Given the description of an element on the screen output the (x, y) to click on. 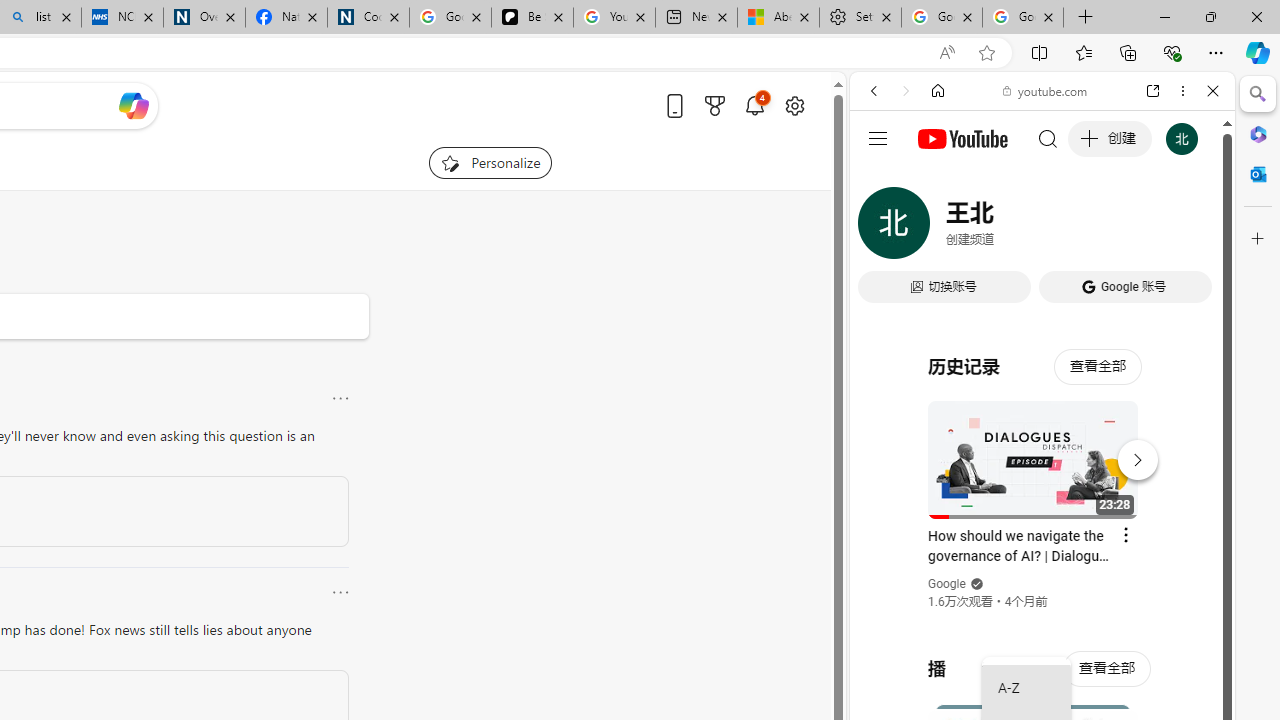
youtube.com (1046, 90)
